Given the description of an element on the screen output the (x, y) to click on. 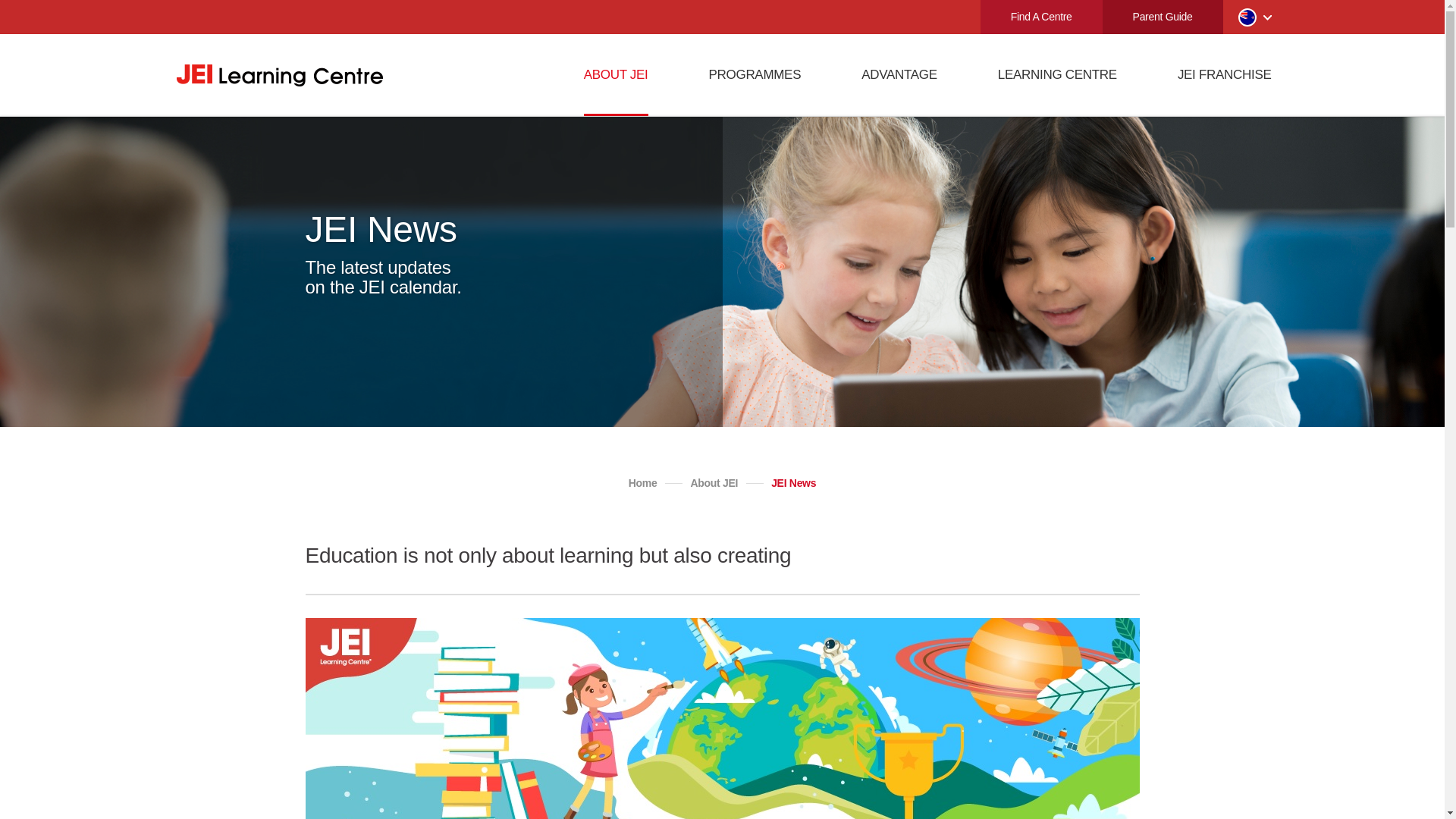
JEI FRANCHISE (1224, 75)
Parent Guide (1162, 17)
ADVANTAGE (899, 75)
Find A Centre (1040, 17)
LEARNING CENTRE (1056, 75)
PROGRAMMES (755, 75)
